Given the description of an element on the screen output the (x, y) to click on. 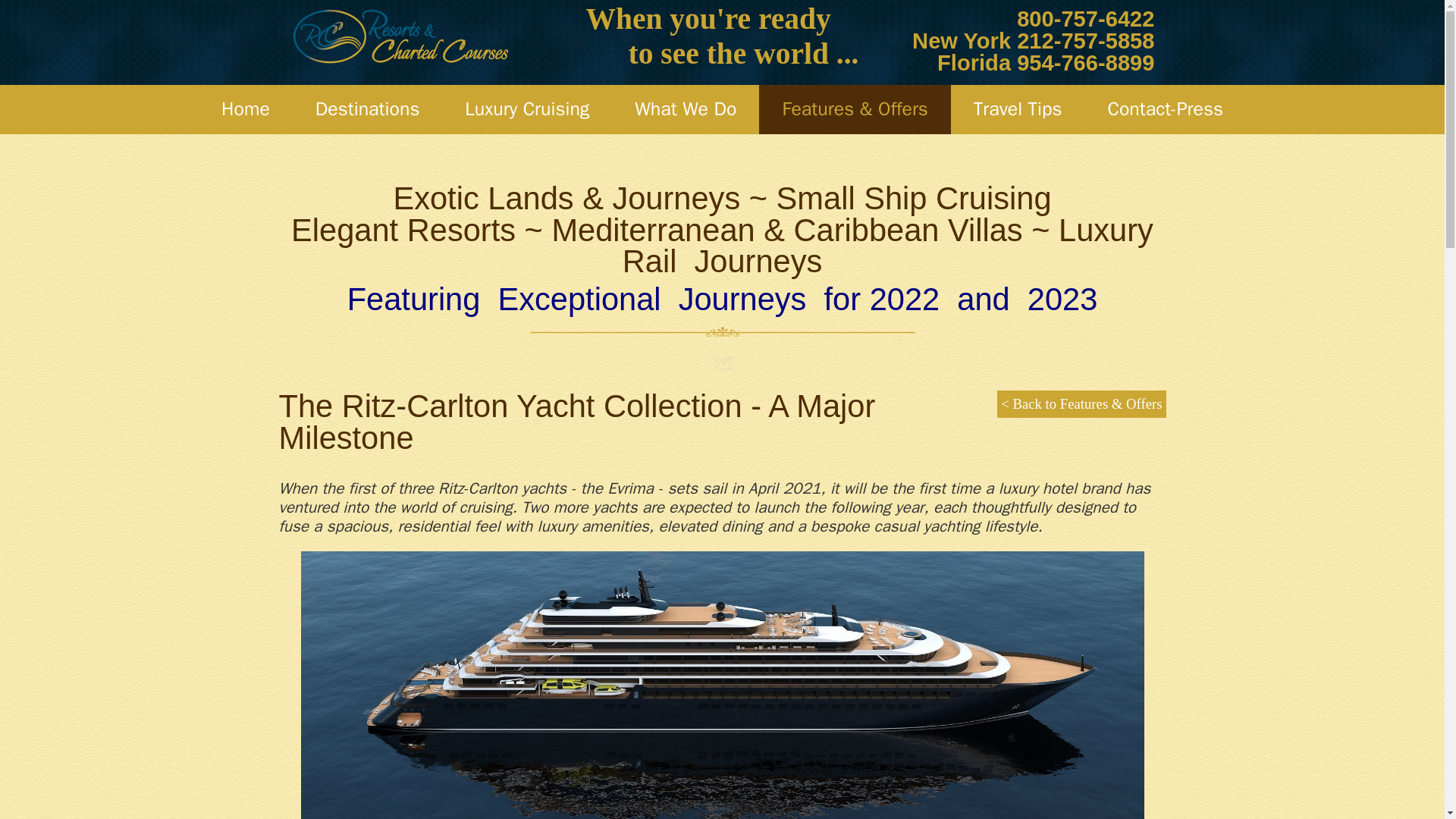
Destinations (367, 109)
Luxury Cruising (526, 109)
Home (245, 109)
Travel Tips (1017, 109)
What We Do (684, 109)
Contact-Press (1165, 109)
